Given the description of an element on the screen output the (x, y) to click on. 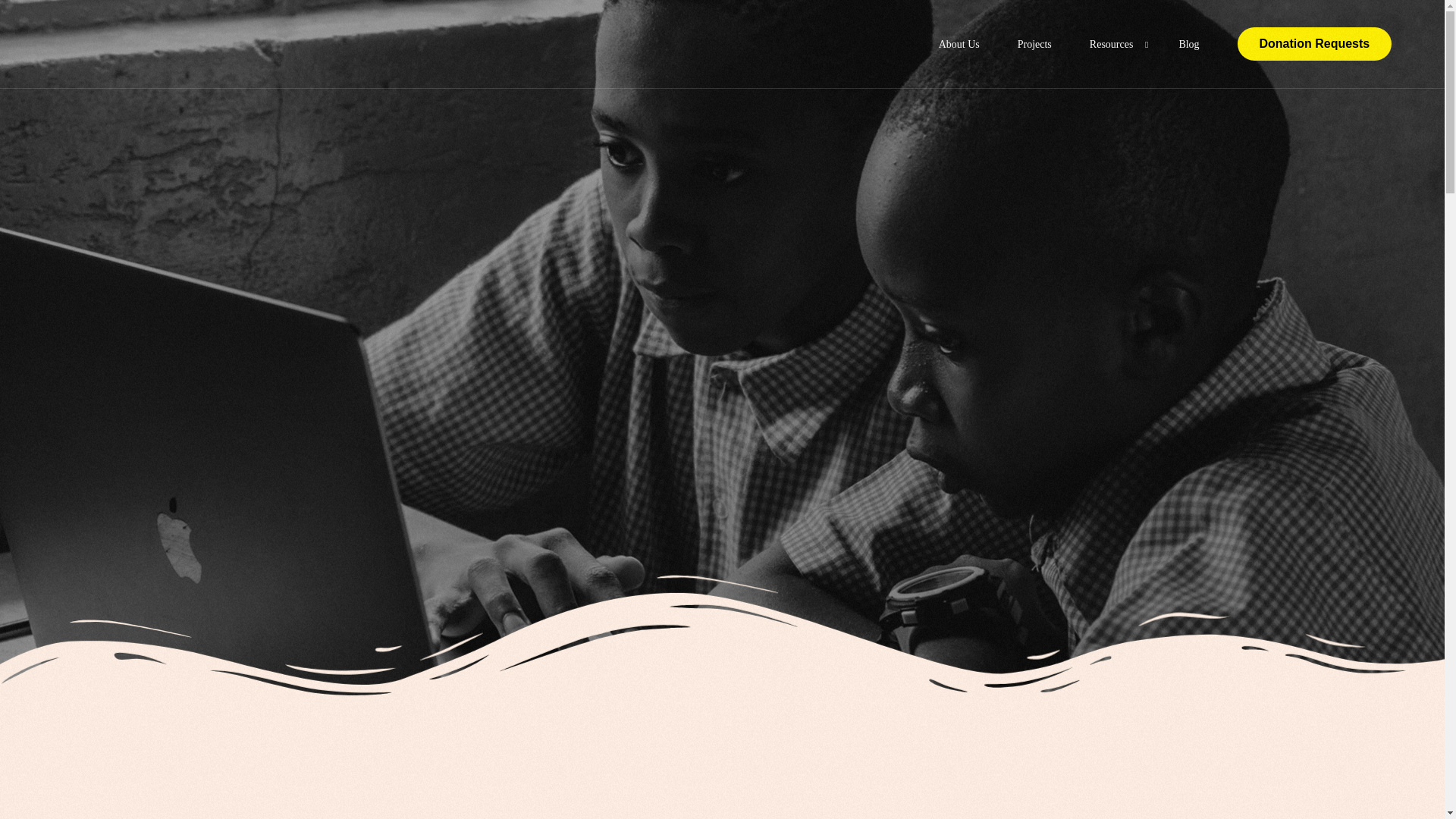
About Us (959, 43)
Resources (1115, 43)
Donation Requests (1314, 43)
